Given the description of an element on the screen output the (x, y) to click on. 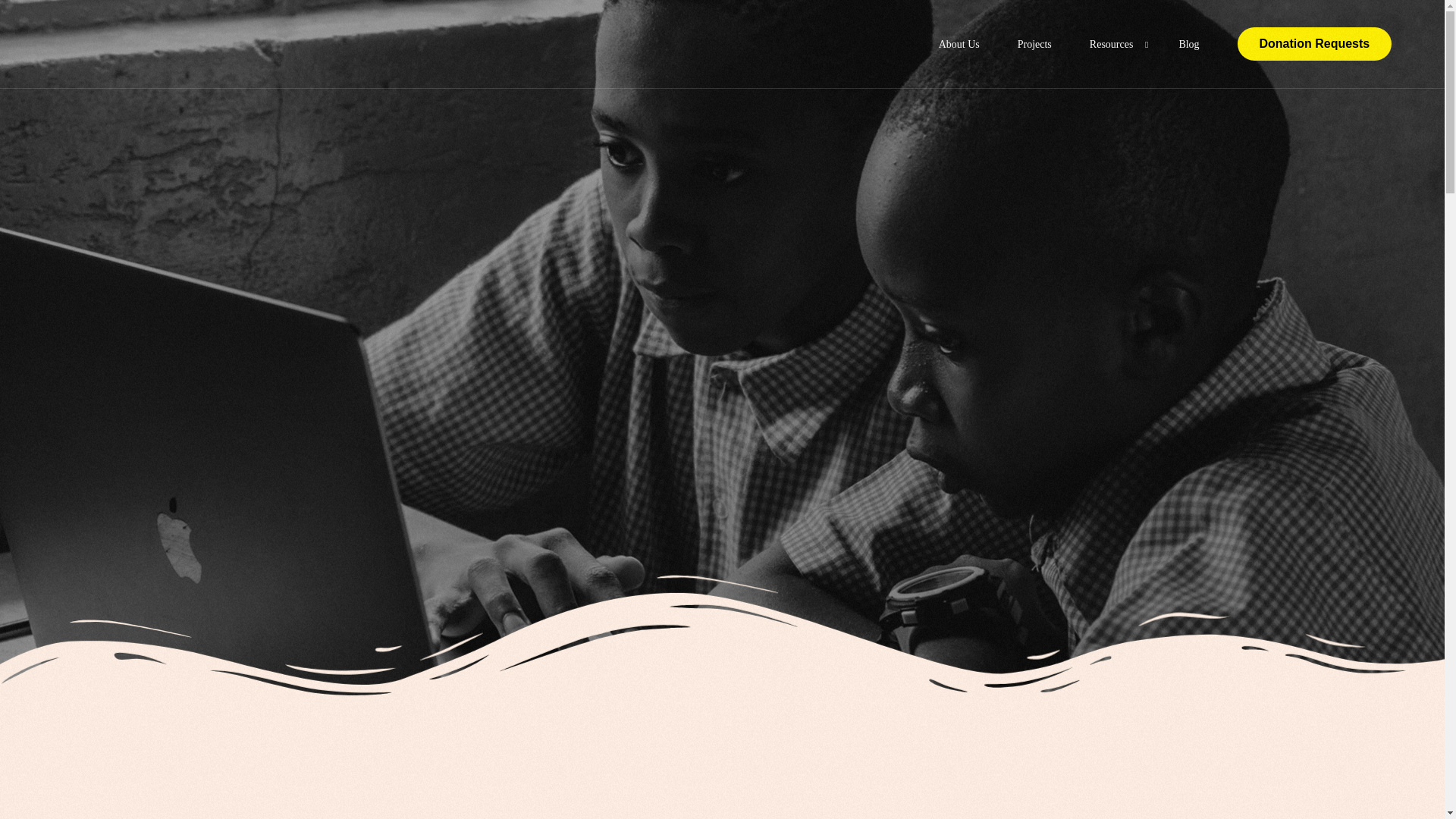
About Us (959, 43)
Resources (1115, 43)
Donation Requests (1314, 43)
